Given the description of an element on the screen output the (x, y) to click on. 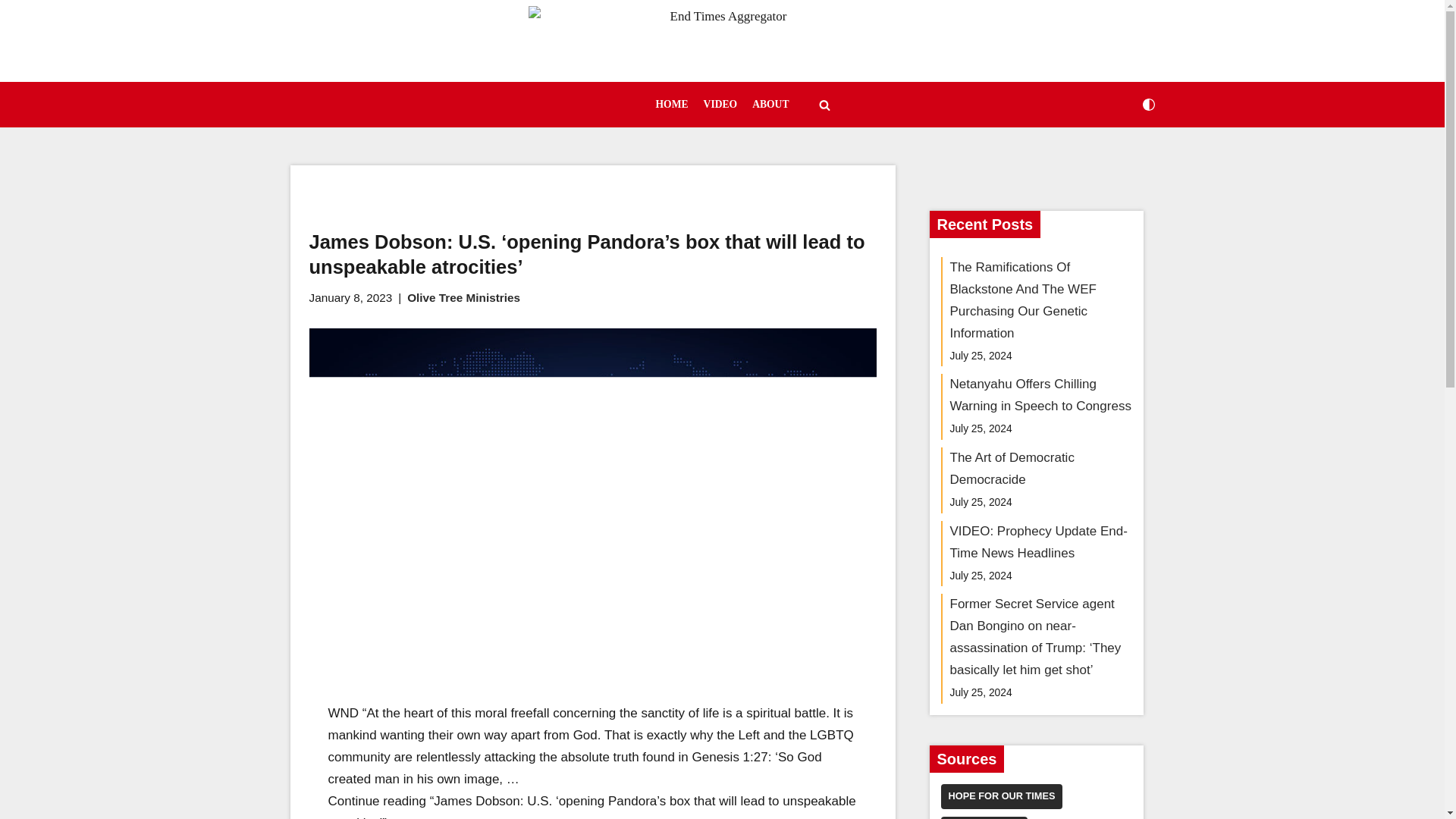
The Art of Democratic Democracide (1011, 468)
MONKEYWERX (983, 817)
ABOUT (770, 104)
Olive Tree Ministries (463, 297)
HOPE FOR OUR TIMES (1001, 796)
VIDEO (720, 104)
Netanyahu Offers Chilling Warning in Speech to Congress (1040, 394)
VIDEO: Prophecy Update End-Time News Headlines (1037, 542)
HOME (672, 104)
Skip to content (11, 31)
